Given the description of an element on the screen output the (x, y) to click on. 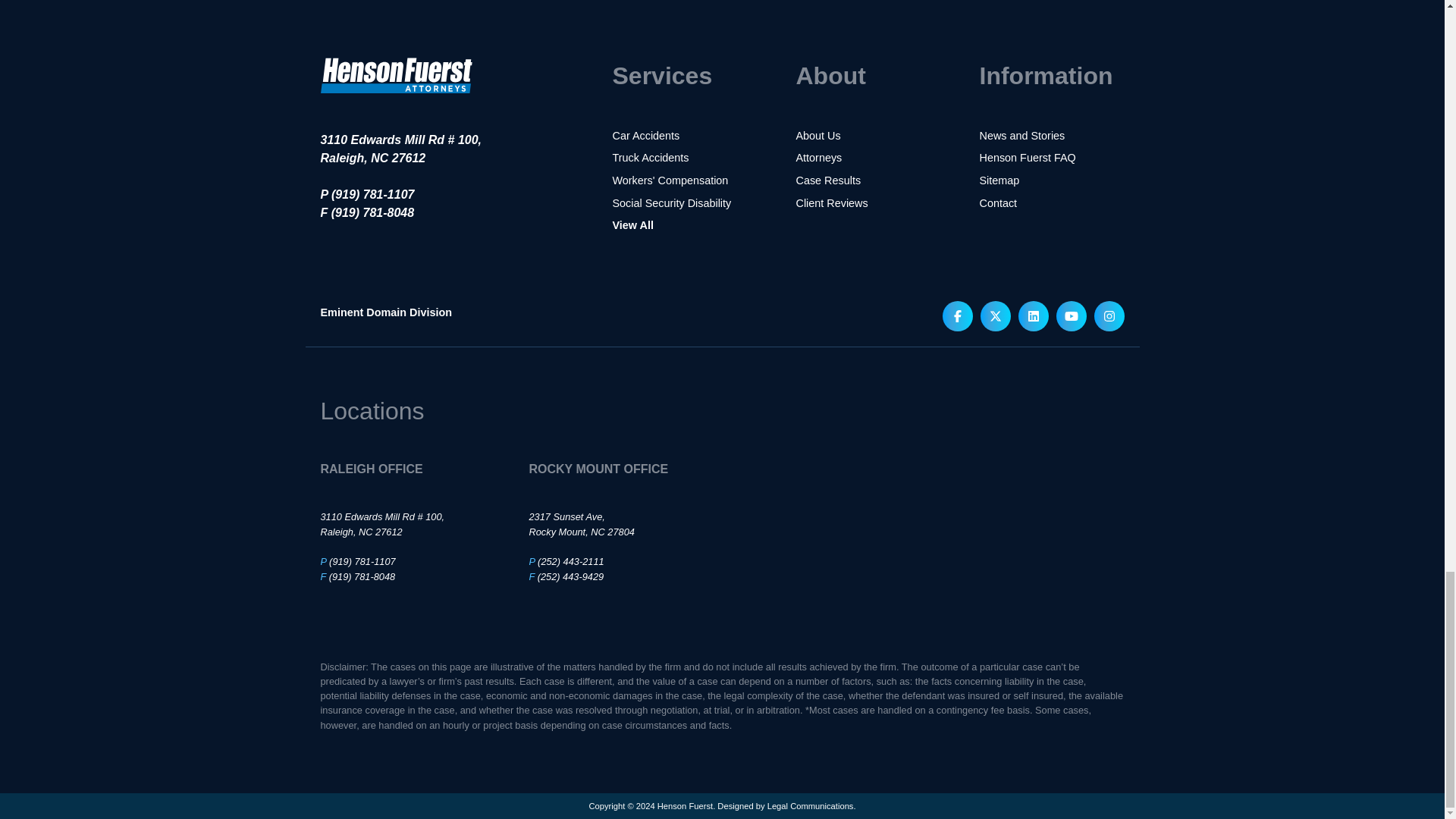
Home (395, 103)
